Given the description of an element on the screen output the (x, y) to click on. 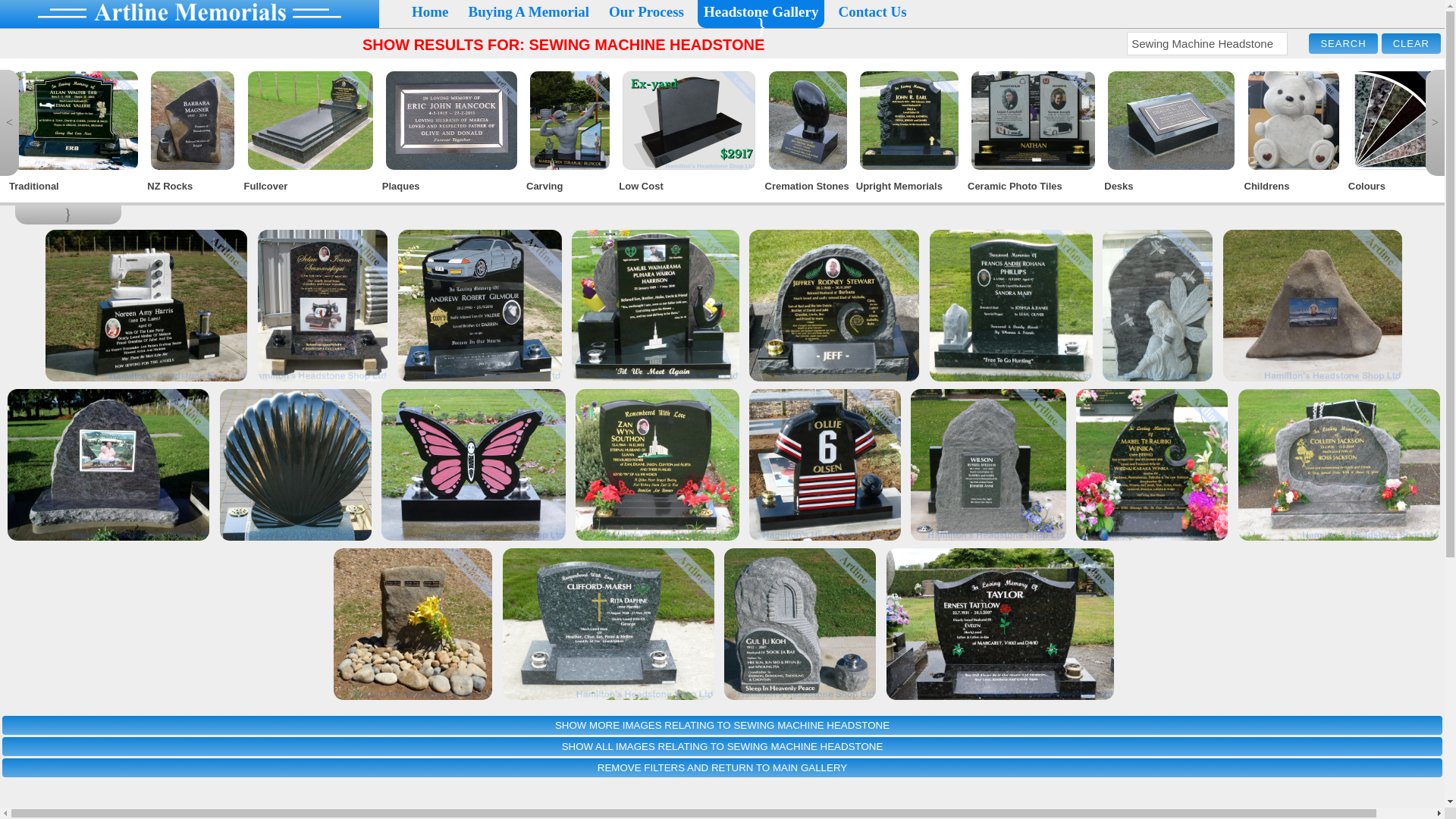
Plaques (452, 185)
Upright Memorials (910, 185)
Headstone Gallery (760, 12)
Headstone Gallery (760, 12)
SHOW ALL IMAGES RELATING TO SEWING MACHINE HEADSTONE (722, 746)
Traditional (76, 185)
Carving (570, 185)
NZ Rocks (193, 185)
Low Cost (689, 185)
Low Cost (689, 185)
Ceramic Photo Tiles (1034, 185)
SHOW MORE IMAGES RELATING TO SEWING MACHINE HEADSTONE (722, 724)
Home (430, 12)
Fullcover (311, 185)
NZ Rocks (193, 185)
